Given the description of an element on the screen output the (x, y) to click on. 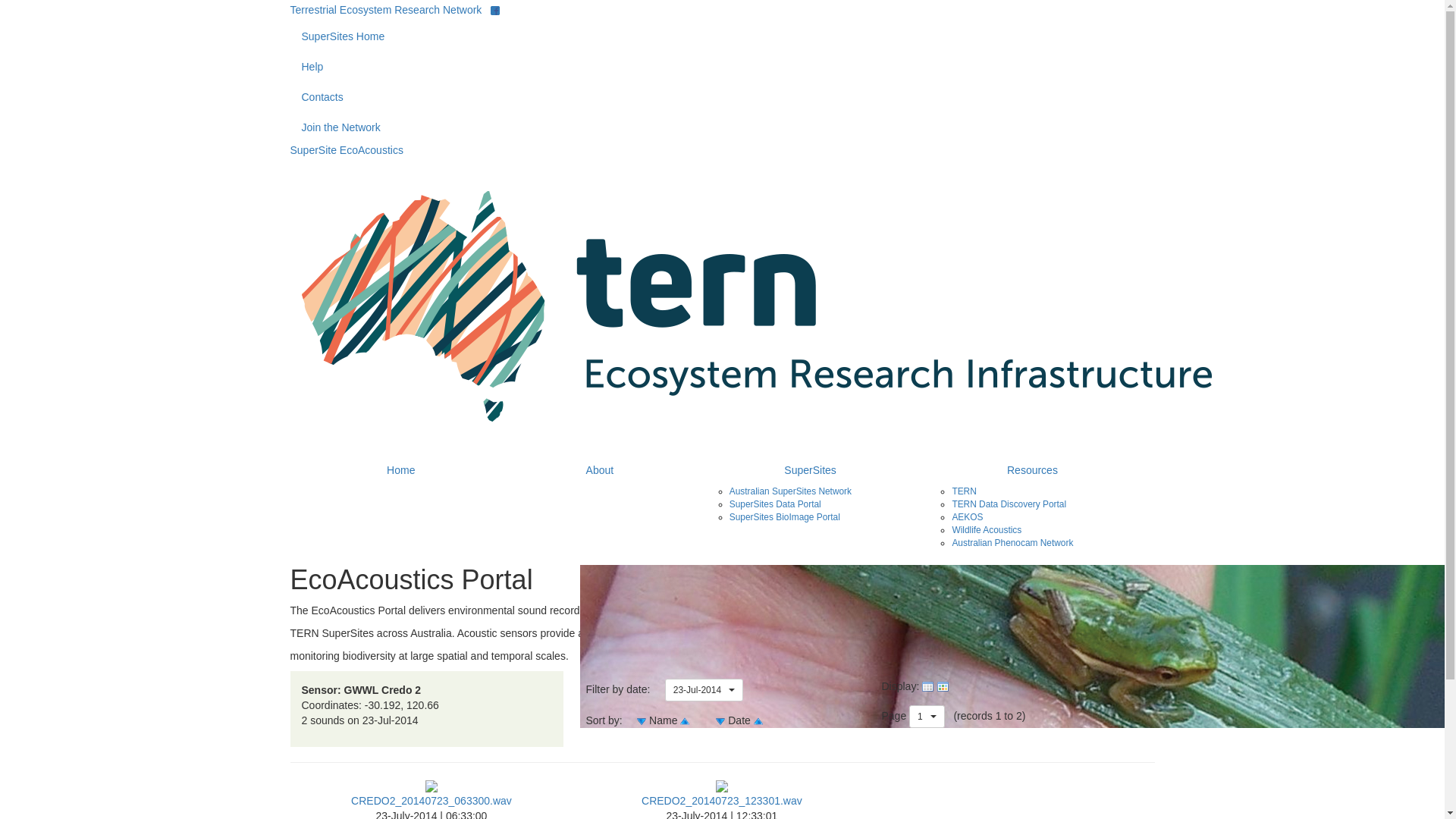
Name, Ascending Element type: hover (641, 720)
Follow ASN and TERN News on Facebook Element type: hover (494, 10)
Display as summary Element type: hover (928, 686)
SuperSites Element type: text (810, 470)
About Element type: text (599, 470)
CREDO2_20140723_123301.wav Element type: text (721, 792)
Join the Network Element type: text (721, 127)
AEKOS Element type: text (966, 516)
SuperSite EcoAcoustics Element type: text (345, 150)
SuperSites Home Element type: text (721, 36)
Display as gallery Element type: hover (943, 686)
Home Element type: text (401, 470)
Resources Element type: text (1031, 470)
SuperSites BioImage Portal Element type: text (784, 516)
CREDO2_20140723_063300.wav Element type: text (431, 792)
Contacts Element type: text (721, 96)
TERN Element type: text (963, 491)
Help Element type: text (721, 66)
Wildlife Acoustics Element type: text (986, 529)
Date, Descending Element type: hover (757, 720)
Name, Descending Element type: hover (684, 720)
Date, Ascending Element type: hover (719, 720)
23-Jul-2014   Element type: text (704, 689)
Australian Phenocam Network Element type: text (1012, 542)
1   Element type: text (926, 716)
TERN Data Discovery Portal Element type: text (1008, 503)
Australian SuperSites Network Element type: text (790, 491)
Terrestrial Ecosystem Research Network Element type: text (385, 9)
SuperSites Data Portal Element type: text (775, 503)
